Given the description of an element on the screen output the (x, y) to click on. 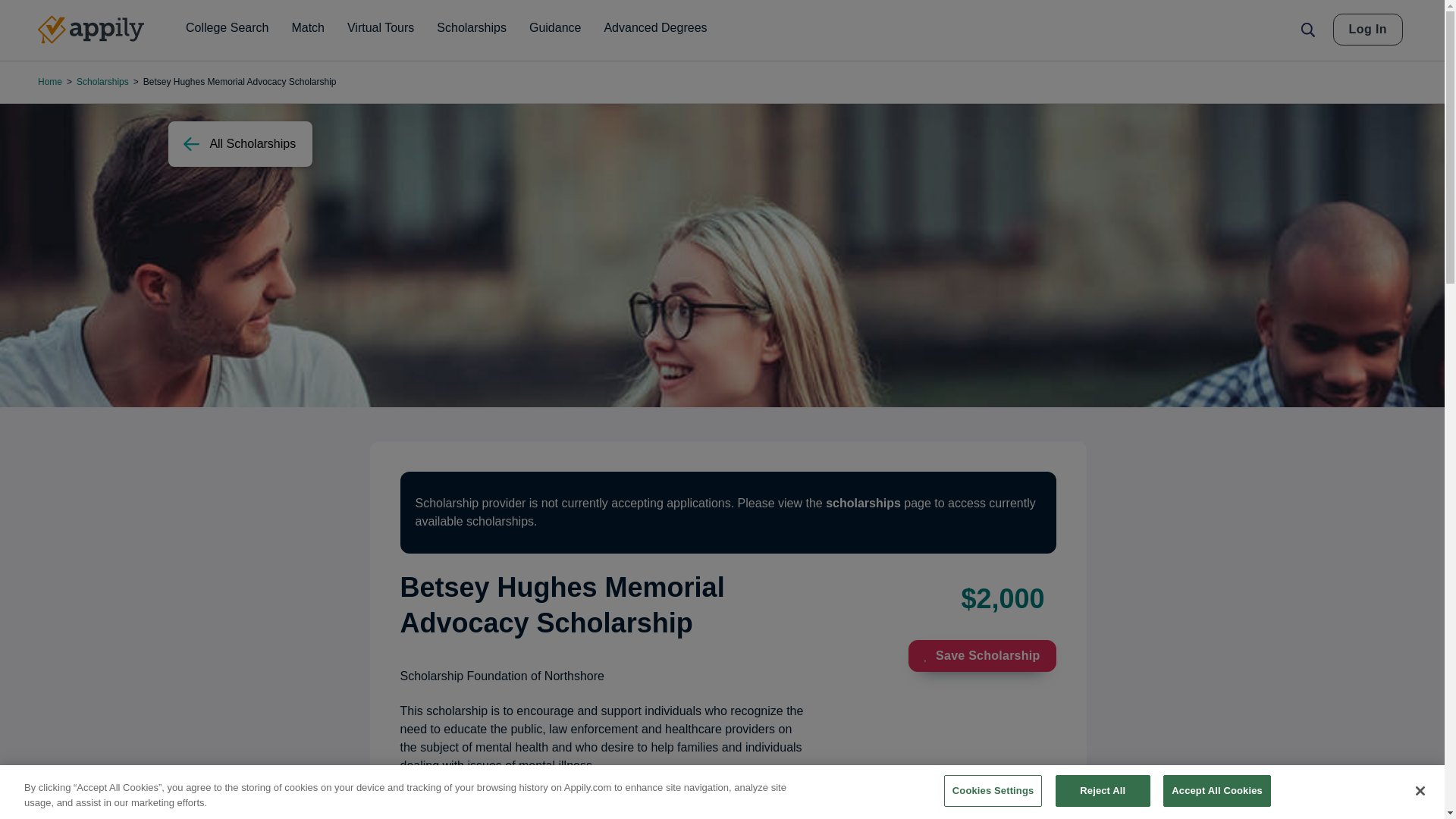
Match (307, 28)
Scholarships (471, 28)
College Search (226, 28)
Home (90, 29)
Virtual Tours (380, 28)
